Given the description of an element on the screen output the (x, y) to click on. 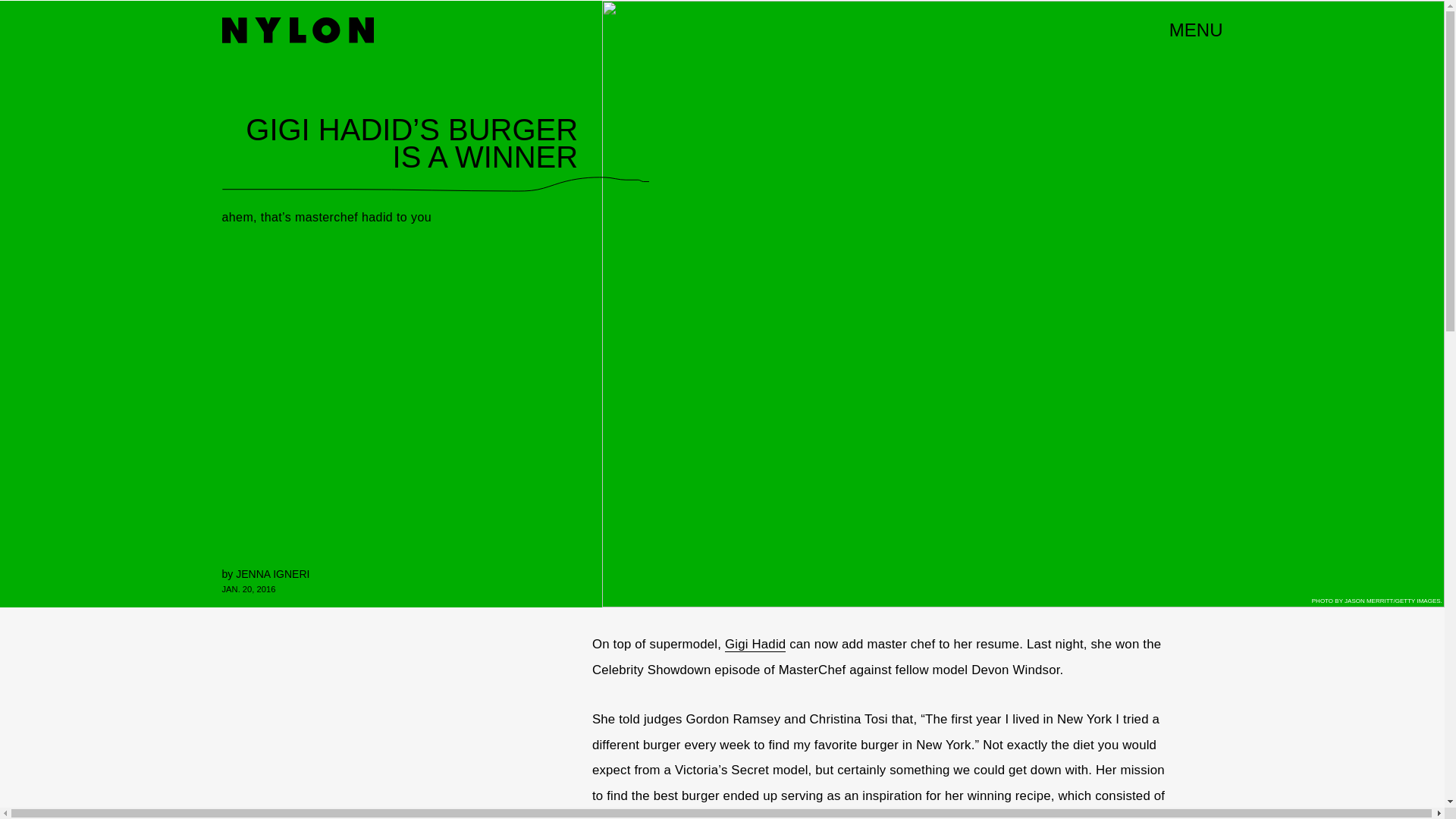
Nylon (296, 30)
JENNA IGNERI (271, 573)
Gigi Hadid (755, 644)
